Given the description of an element on the screen output the (x, y) to click on. 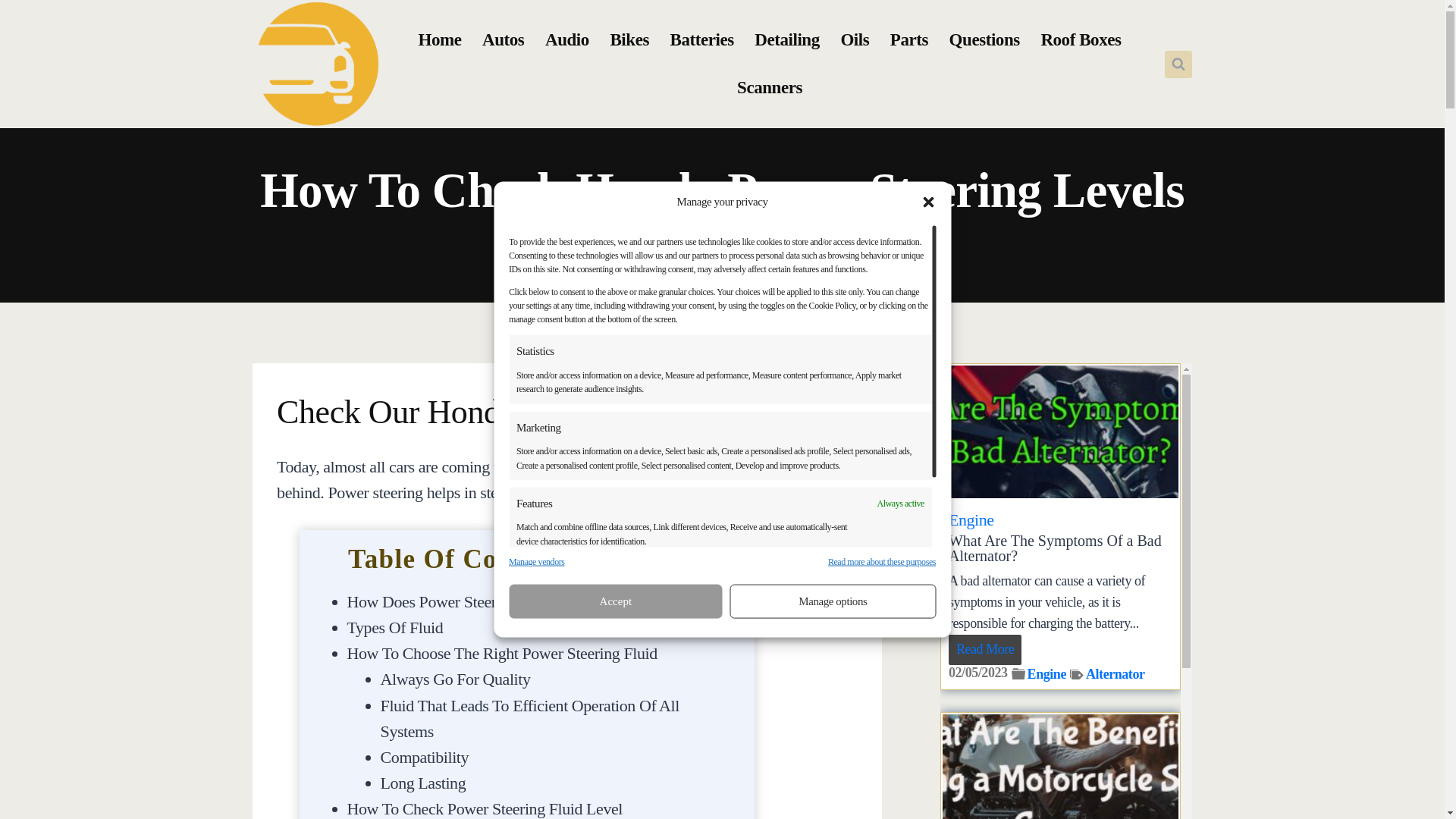
Accept (615, 600)
Audio (566, 39)
Manage vendors (536, 562)
Oils (854, 39)
Home (579, 247)
Scanners (769, 87)
Home (439, 39)
Autos (502, 39)
Detailing (786, 39)
Questions (984, 39)
Read more about these purposes (882, 562)
Batteries (701, 39)
Manage options (833, 600)
Bikes (629, 39)
Roof Boxes (1081, 39)
